Given the description of an element on the screen output the (x, y) to click on. 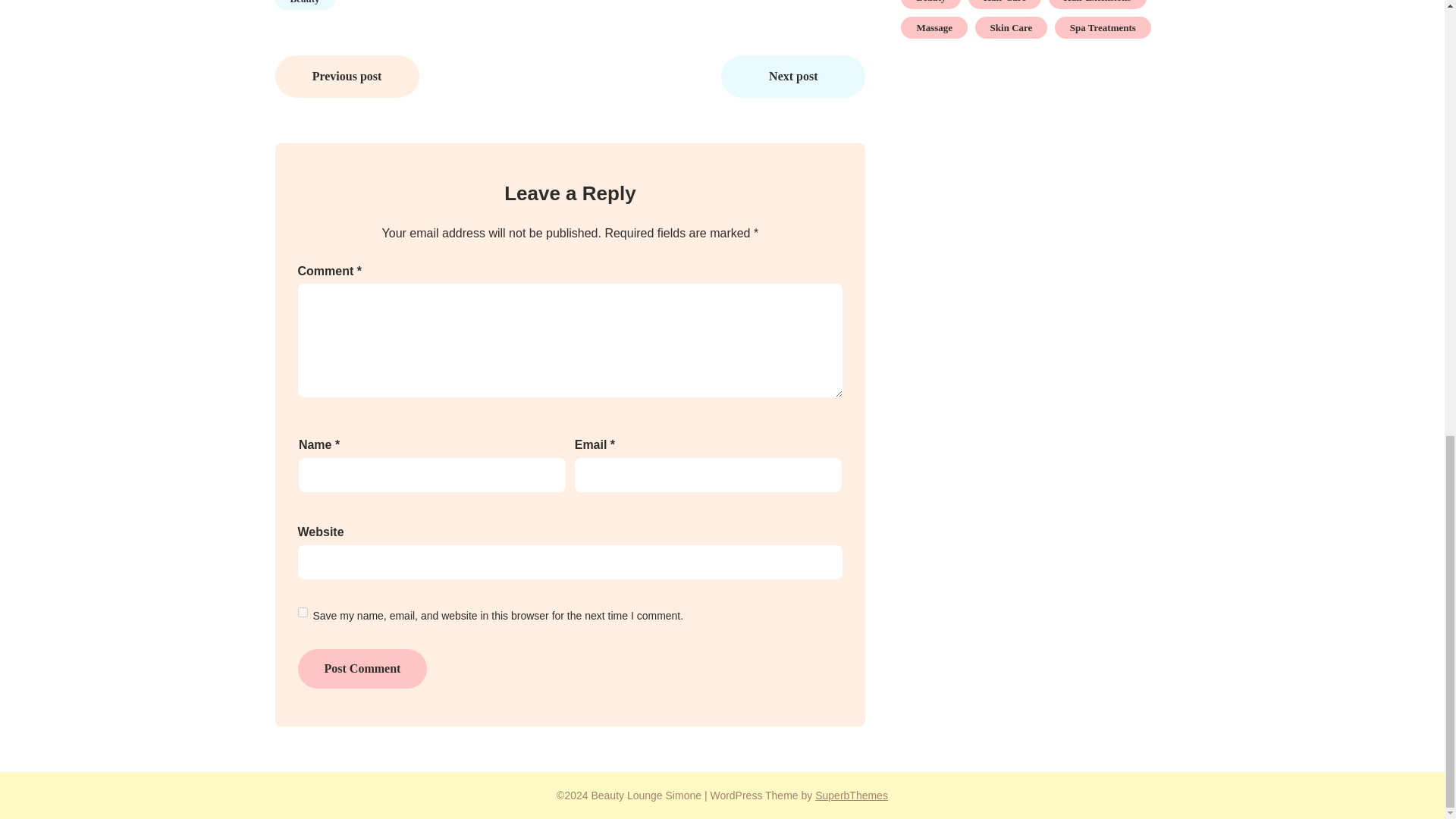
Beauty (930, 4)
Beauty (304, 5)
Post Comment (361, 668)
yes (302, 612)
Next post (792, 76)
Previous post (347, 76)
Post Comment (361, 668)
Hair Care (1004, 4)
